Given the description of an element on the screen output the (x, y) to click on. 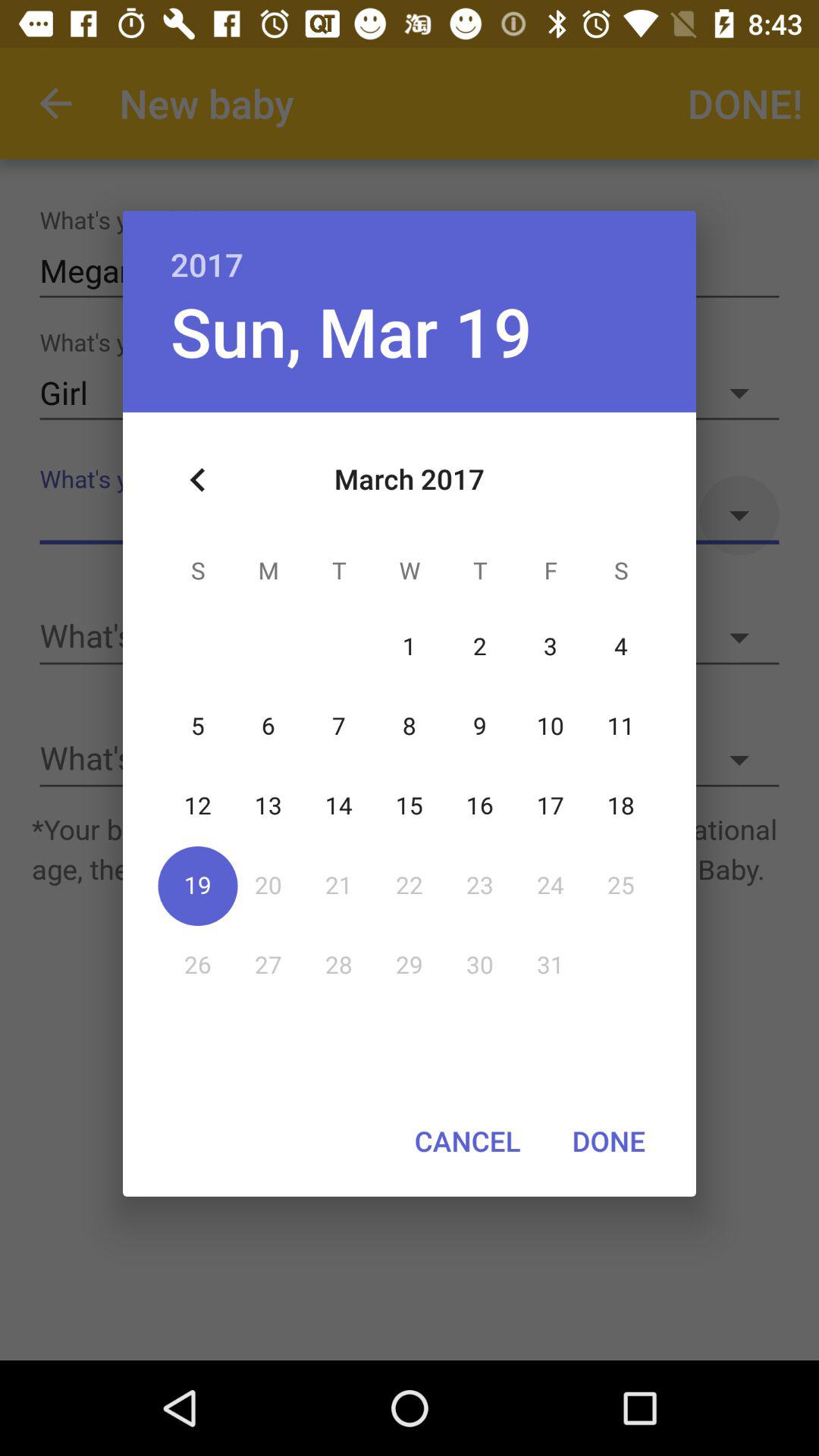
tap done at the bottom right corner (608, 1140)
